Given the description of an element on the screen output the (x, y) to click on. 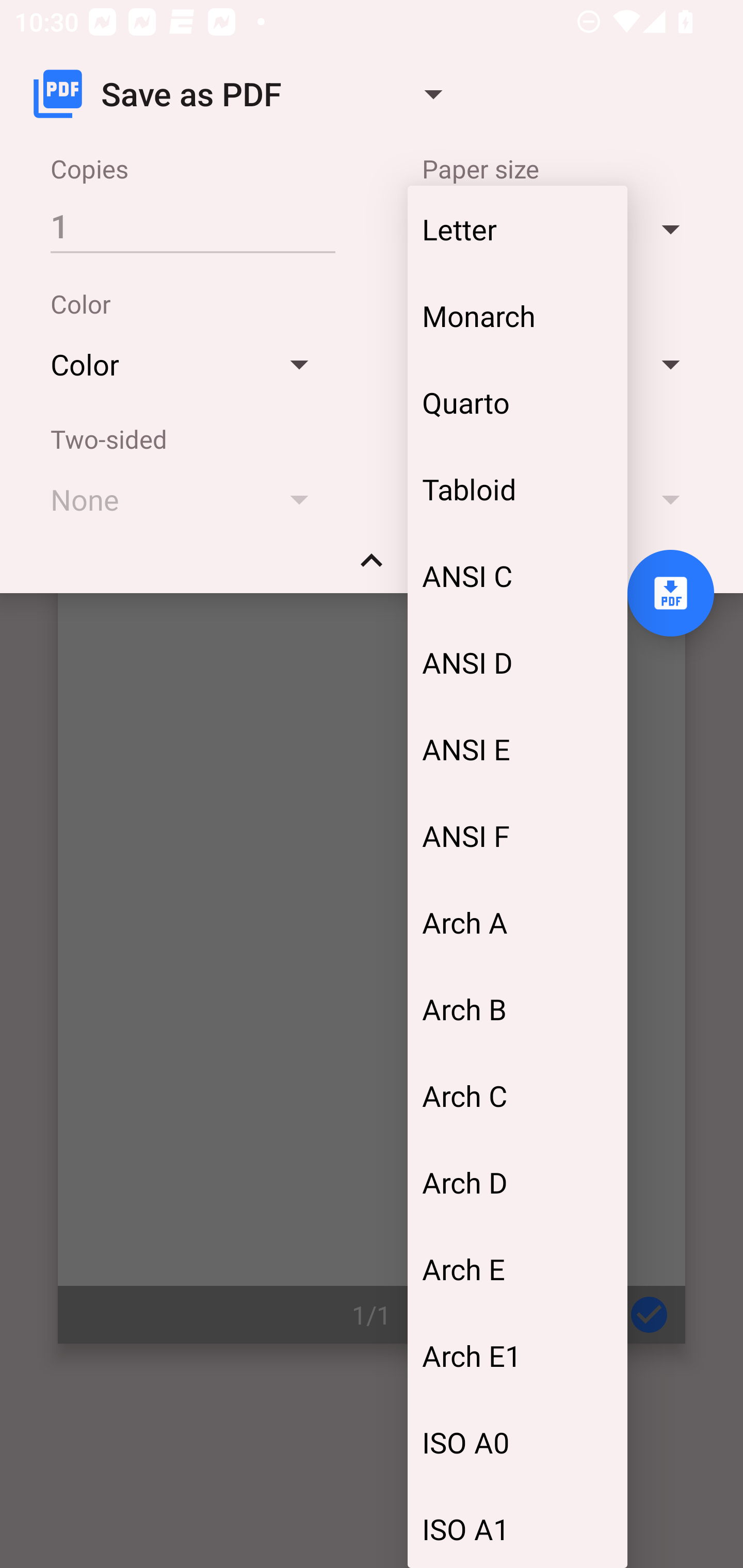
Letter (517, 228)
Monarch (517, 315)
Quarto (517, 402)
Tabloid (517, 488)
ANSI C (517, 575)
ANSI D (517, 662)
ANSI E (517, 748)
ANSI F (517, 835)
Arch A (517, 922)
Arch B (517, 1008)
Arch C (517, 1095)
Arch D (517, 1182)
Arch E (517, 1269)
Arch E1 (517, 1355)
ISO A0 (517, 1441)
ISO A1 (517, 1526)
